Given the description of an element on the screen output the (x, y) to click on. 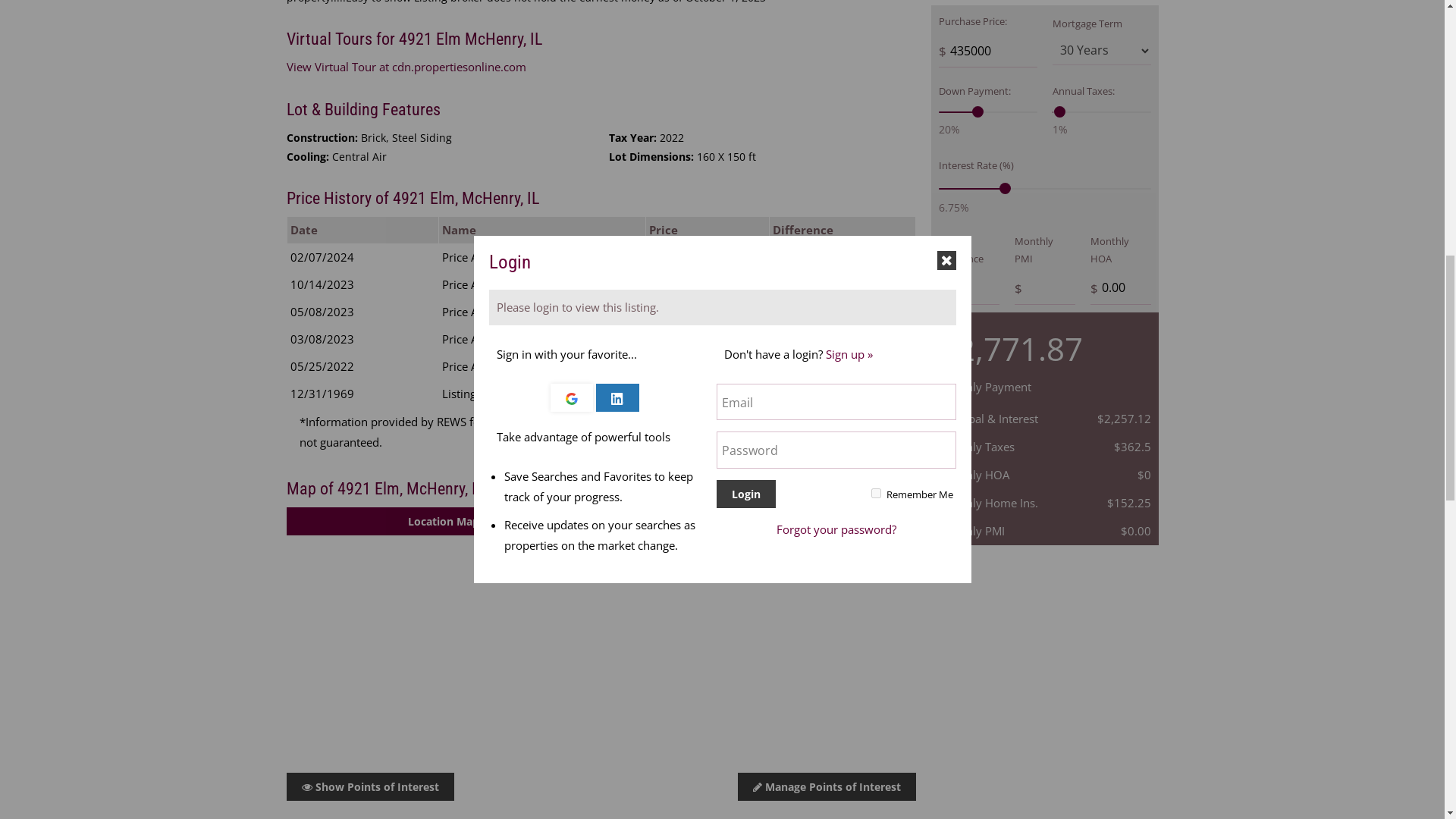
1 (1101, 112)
435000 (987, 51)
0.00 (1120, 287)
20 (987, 112)
